Given the description of an element on the screen output the (x, y) to click on. 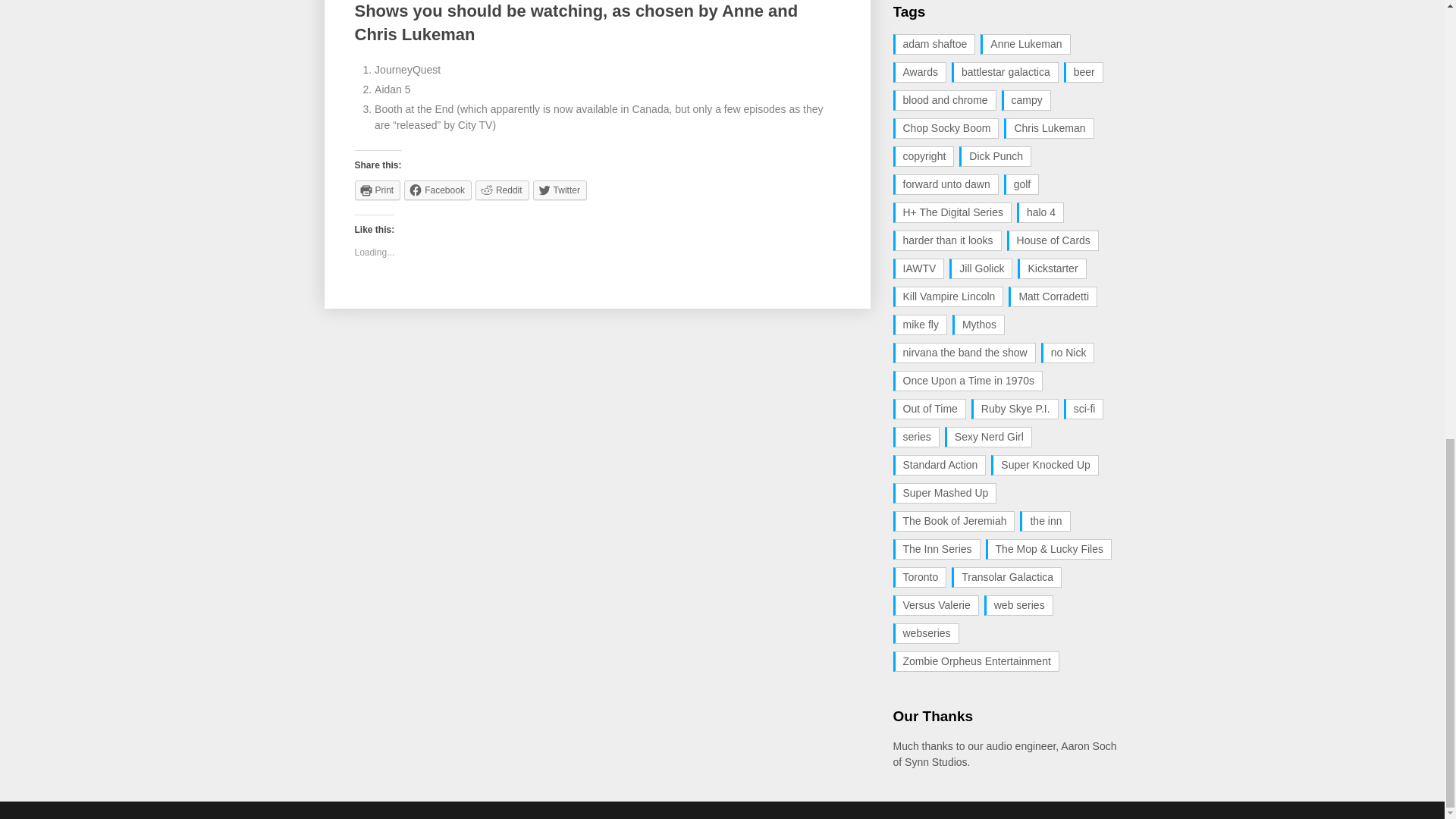
Reddit (502, 189)
adam shaftoe (934, 44)
forward unto dawn (945, 184)
Chris Lukeman (1048, 127)
battlestar galactica (1005, 72)
Awards (919, 72)
Click to share on Facebook (437, 189)
Print (378, 189)
Click to share on Reddit (502, 189)
Twitter (559, 189)
Facebook (437, 189)
Anne Lukeman (1024, 44)
Click to print (378, 189)
copyright (924, 156)
Dick Punch (994, 156)
